Given the description of an element on the screen output the (x, y) to click on. 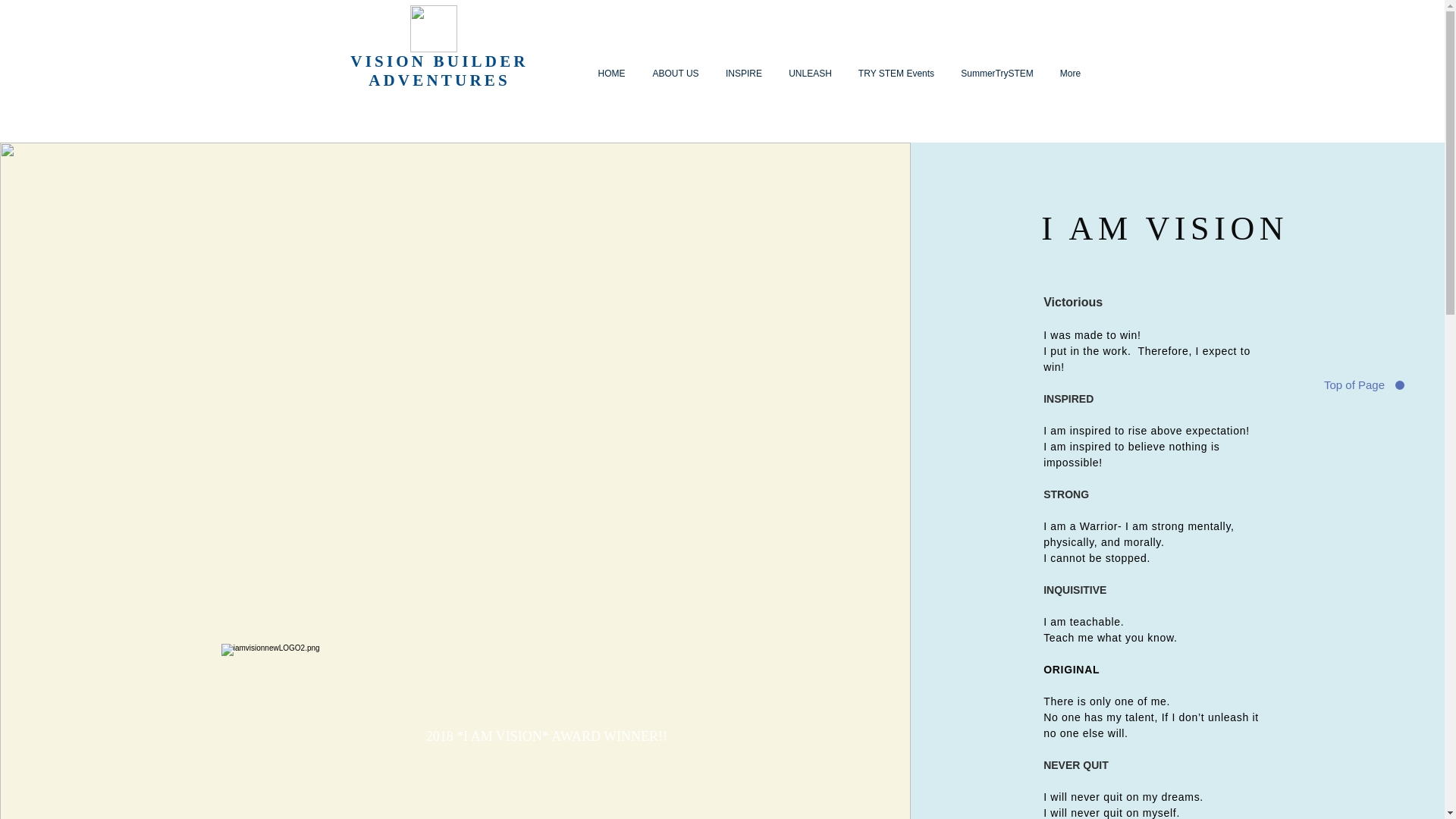
INSPIRE (744, 73)
UNLEASH (809, 73)
SummerTrySTEM (996, 73)
ABOUT US (675, 73)
HOME (611, 73)
Top of Page (1360, 384)
VISION BUILDER ADVENTURES (438, 70)
TRY STEM Events (895, 73)
